Given the description of an element on the screen output the (x, y) to click on. 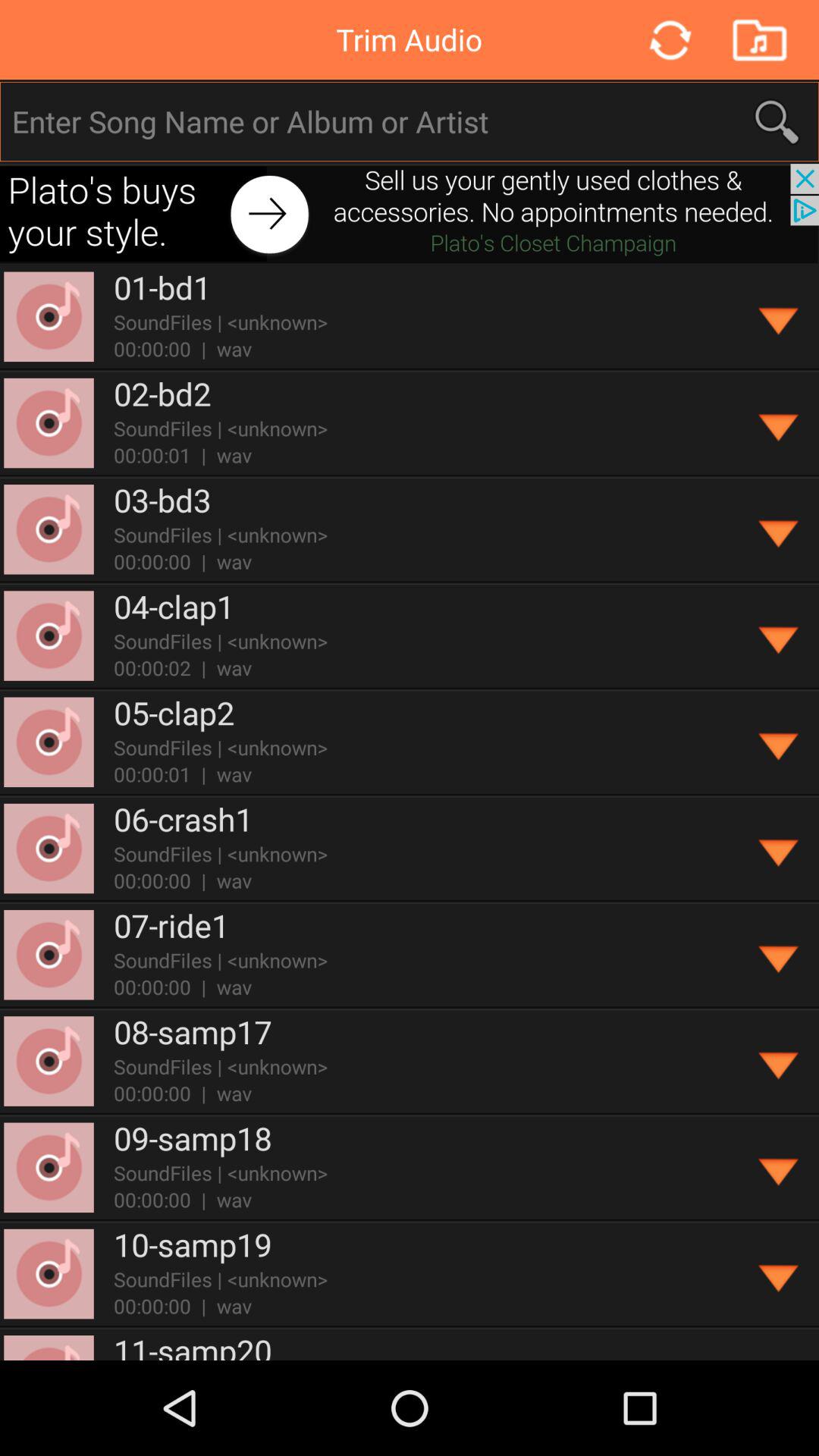
save the memory (759, 39)
